Given the description of an element on the screen output the (x, y) to click on. 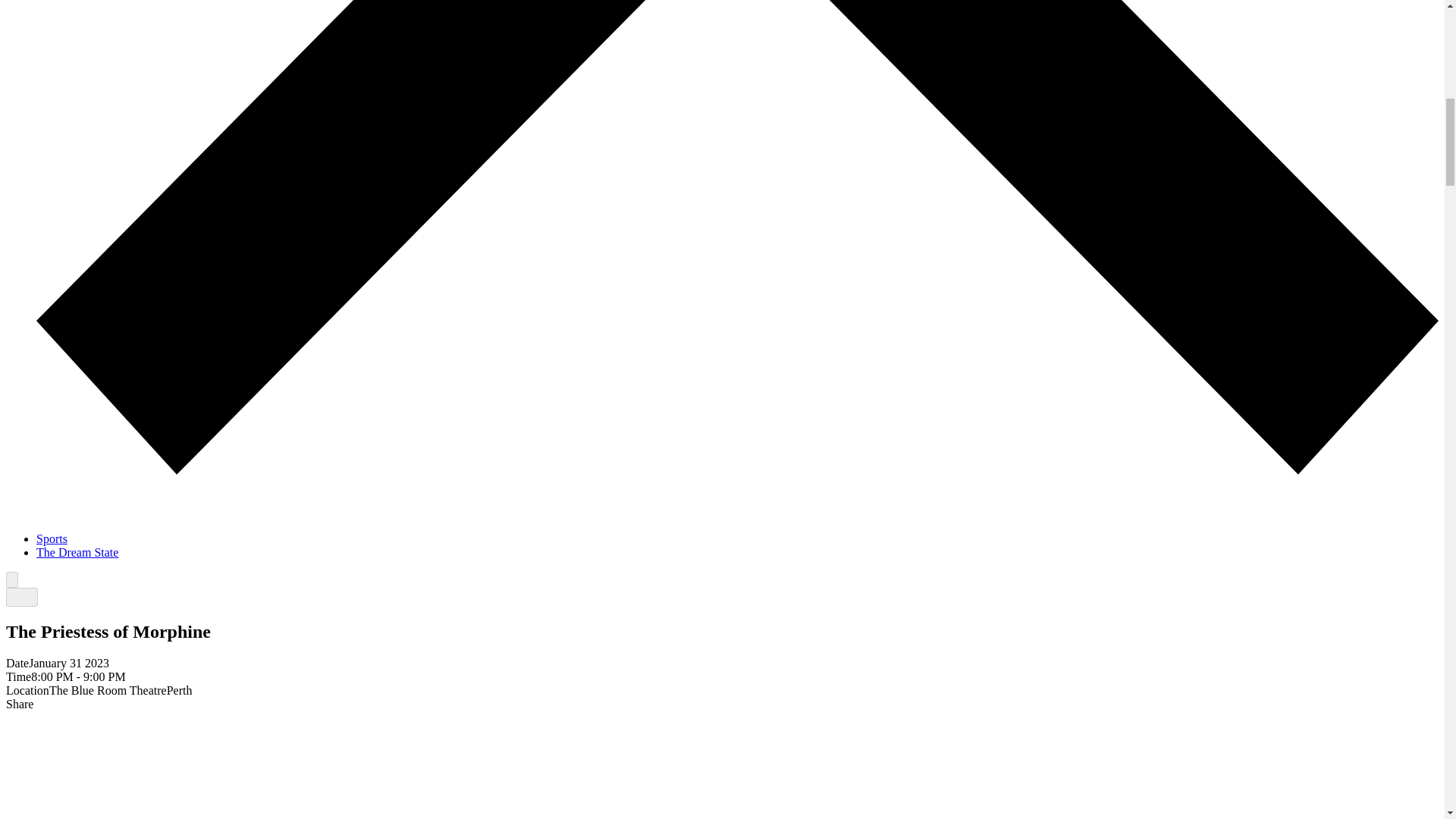
Sports (51, 538)
The Dream State (76, 552)
